Given the description of an element on the screen output the (x, y) to click on. 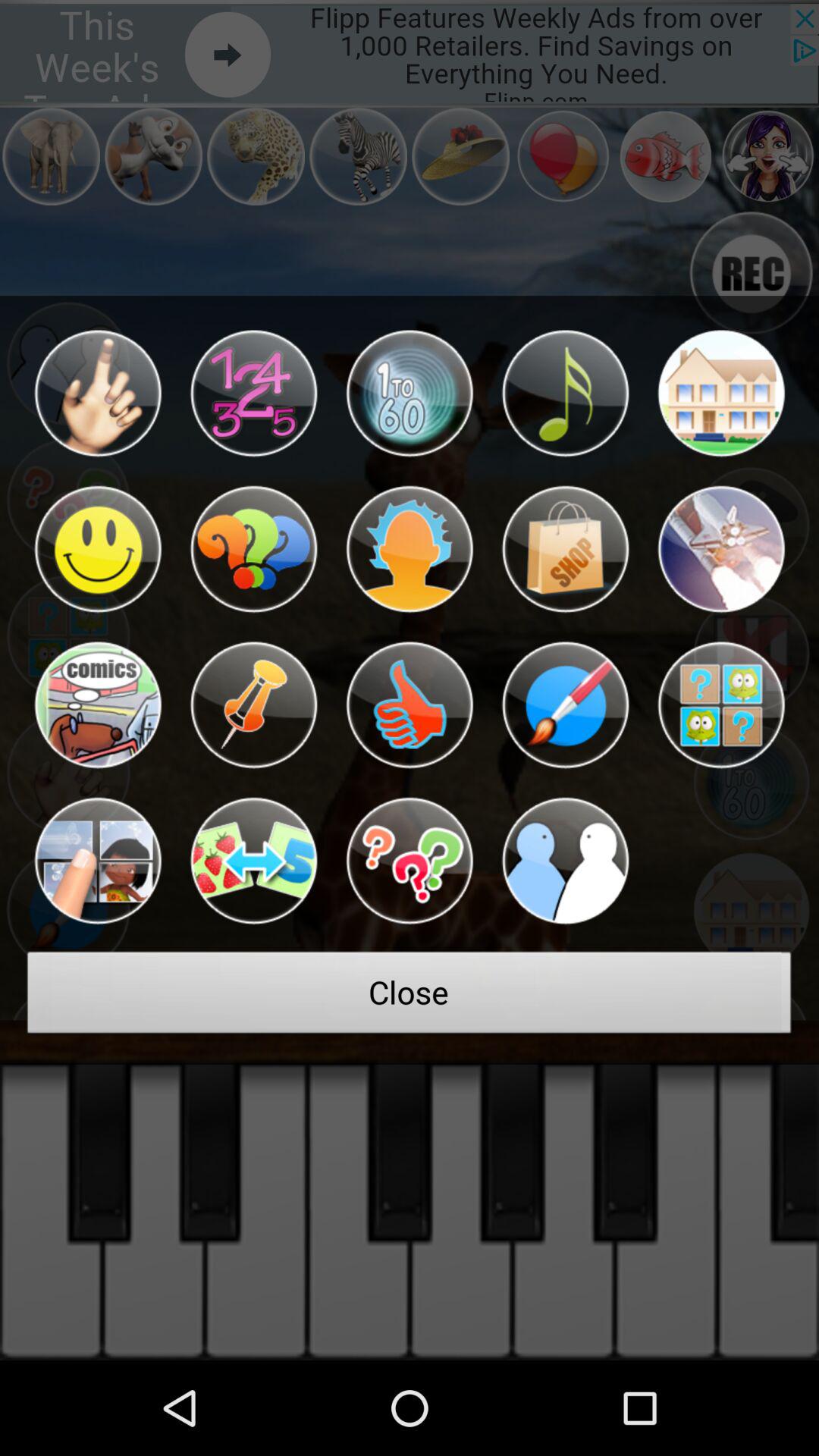
select paintbrush (565, 705)
